Given the description of an element on the screen output the (x, y) to click on. 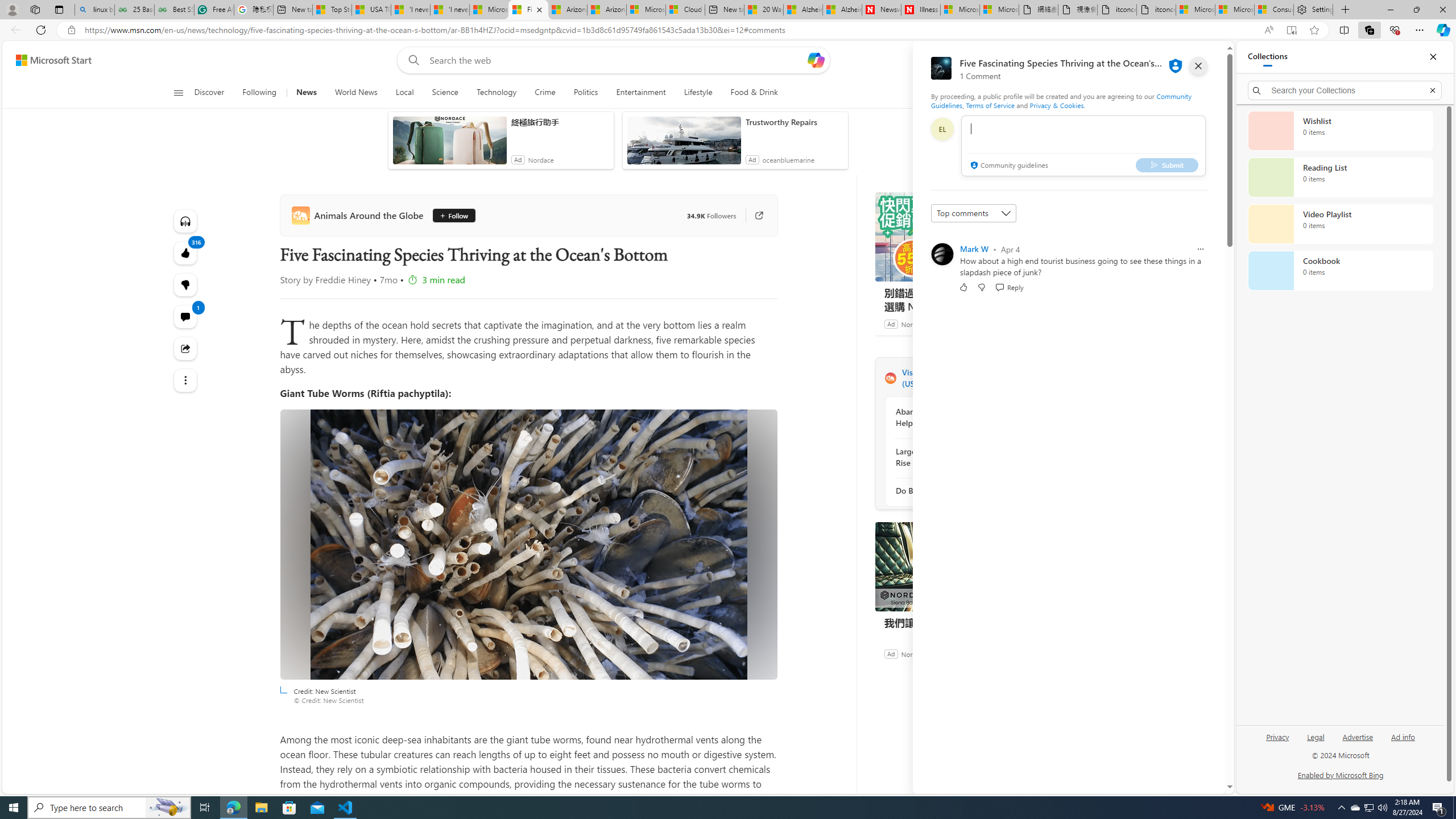
Open navigation menu (177, 92)
Ad info (1402, 736)
316 (184, 284)
Like (962, 287)
Largest Prediction Of Sea-Level Rise Unlikely Says Scientist (957, 456)
Science (444, 92)
Trustworthy Repairs (794, 121)
Best SSL Certificates Provider in India - GeeksforGeeks (174, 9)
